Given the description of an element on the screen output the (x, y) to click on. 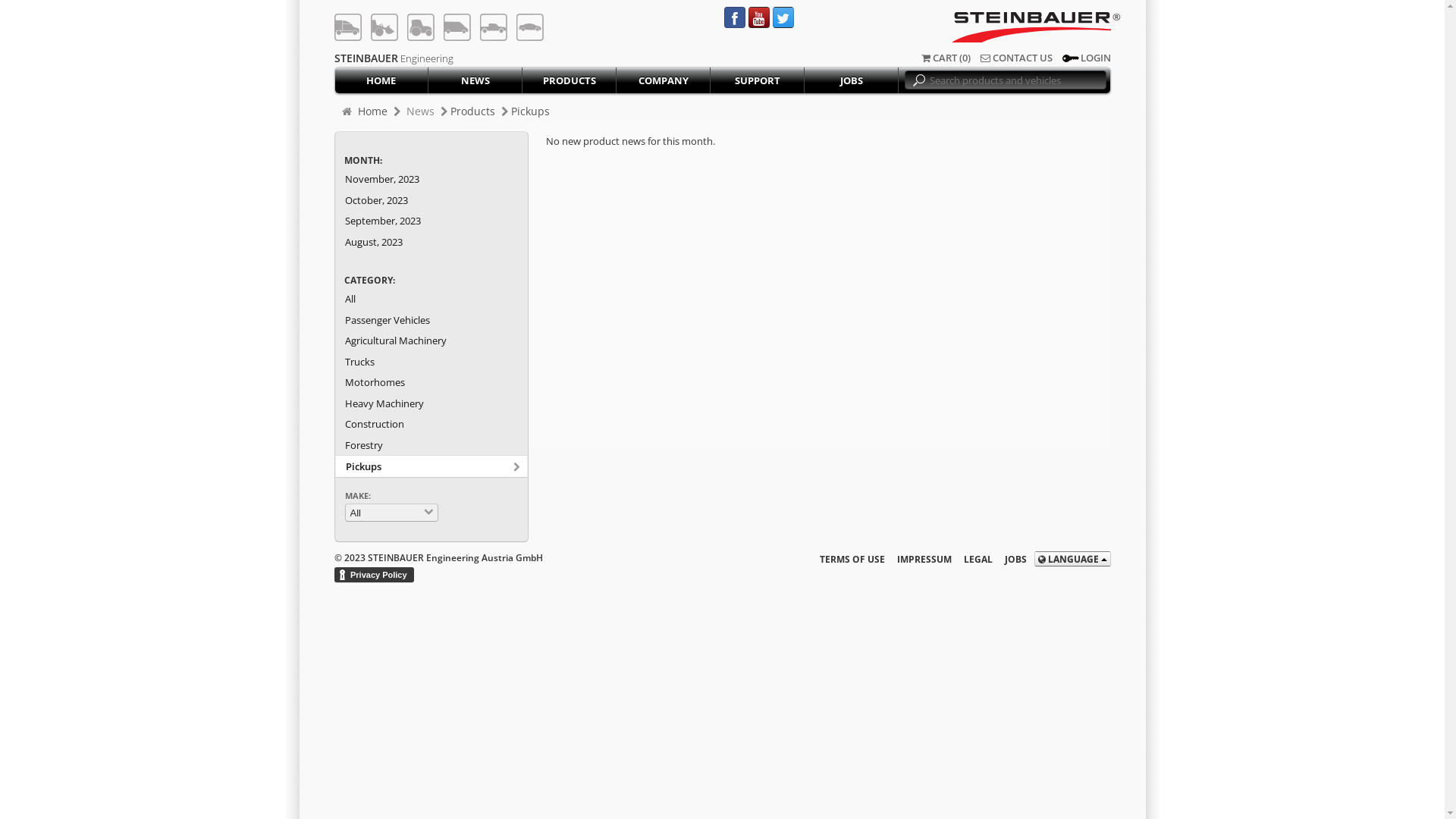
NEWS Element type: text (475, 80)
  Element type: text (419, 26)
JOBS Element type: text (1008, 558)
LEGAL Element type: text (970, 558)
Privacy Policy Element type: hover (376, 575)
PRODUCTS Element type: text (569, 80)
Pickups Element type: text (530, 110)
LOGIN Element type: text (1085, 57)
  Element type: text (528, 26)
CONTACT US Element type: text (1015, 57)
  Element type: text (346, 26)
Construction Element type: text (431, 423)
SUPPORT Element type: text (757, 80)
COMPANY Element type: text (663, 80)
JOBS Element type: text (851, 80)
HOME Element type: text (382, 80)
Agricultural Machinery Element type: text (431, 339)
Home Element type: text (370, 110)
Products Element type: text (472, 110)
CART (0) Element type: text (944, 57)
September, 2023 Element type: text (431, 220)
October, 2023 Element type: text (431, 199)
LANGUAGE Element type: text (1072, 558)
Heavy Machinery Element type: text (431, 402)
TERMS OF USE Element type: text (845, 558)
August, 2023 Element type: text (431, 241)
  Element type: text (492, 26)
IMPRESSUM Element type: text (917, 558)
Motorhomes Element type: text (431, 381)
  Element type: text (383, 26)
Forestry Element type: text (431, 444)
November, 2023 Element type: text (431, 178)
All Element type: text (431, 298)
Pickups Element type: text (431, 465)
Passenger Vehicles Element type: text (431, 319)
Trucks Element type: text (431, 361)
  Element type: text (456, 26)
